Given the description of an element on the screen output the (x, y) to click on. 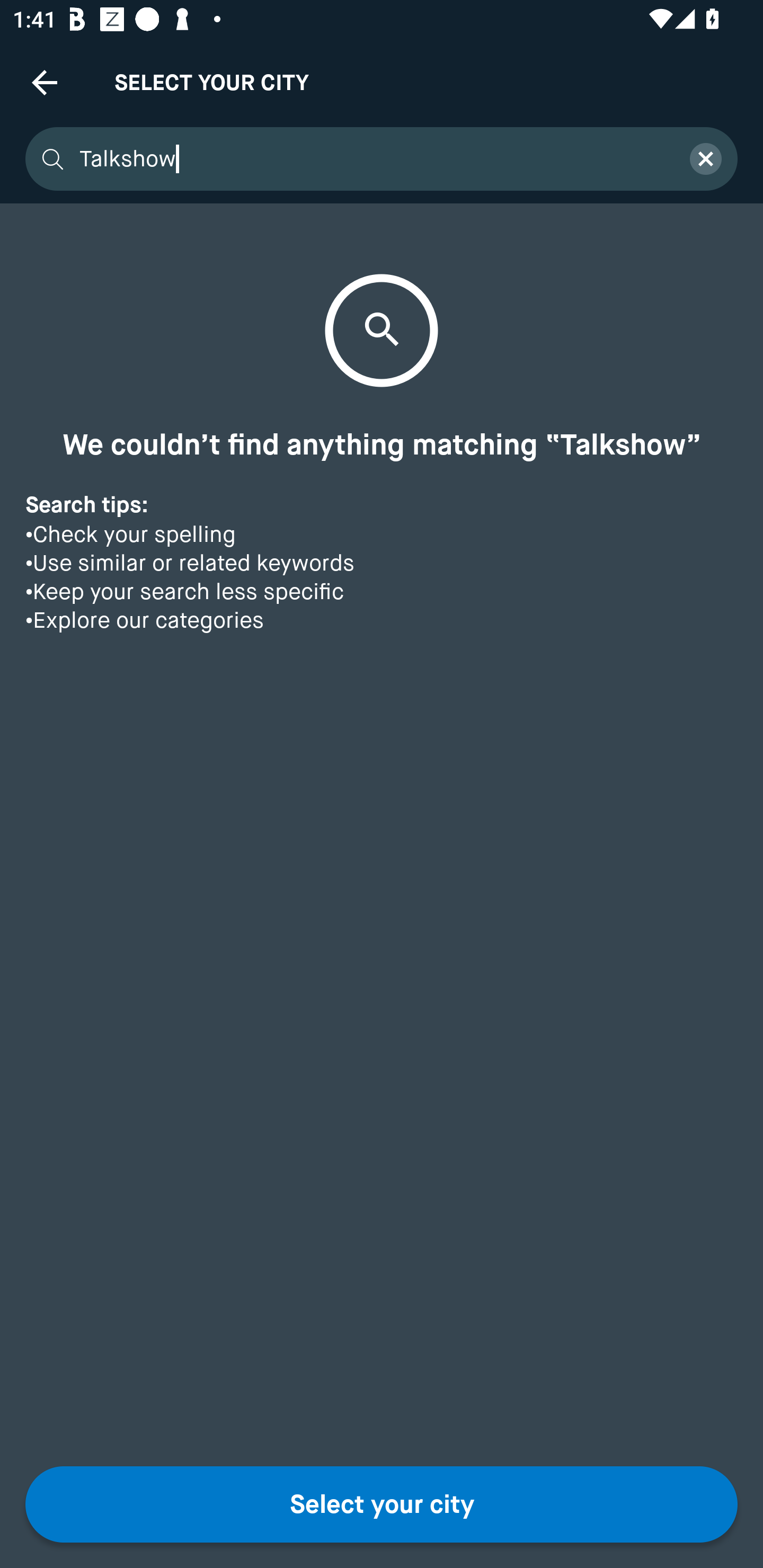
Navigate up (44, 82)
Talkshow (373, 159)
Select your city (381, 1504)
